Given the description of an element on the screen output the (x, y) to click on. 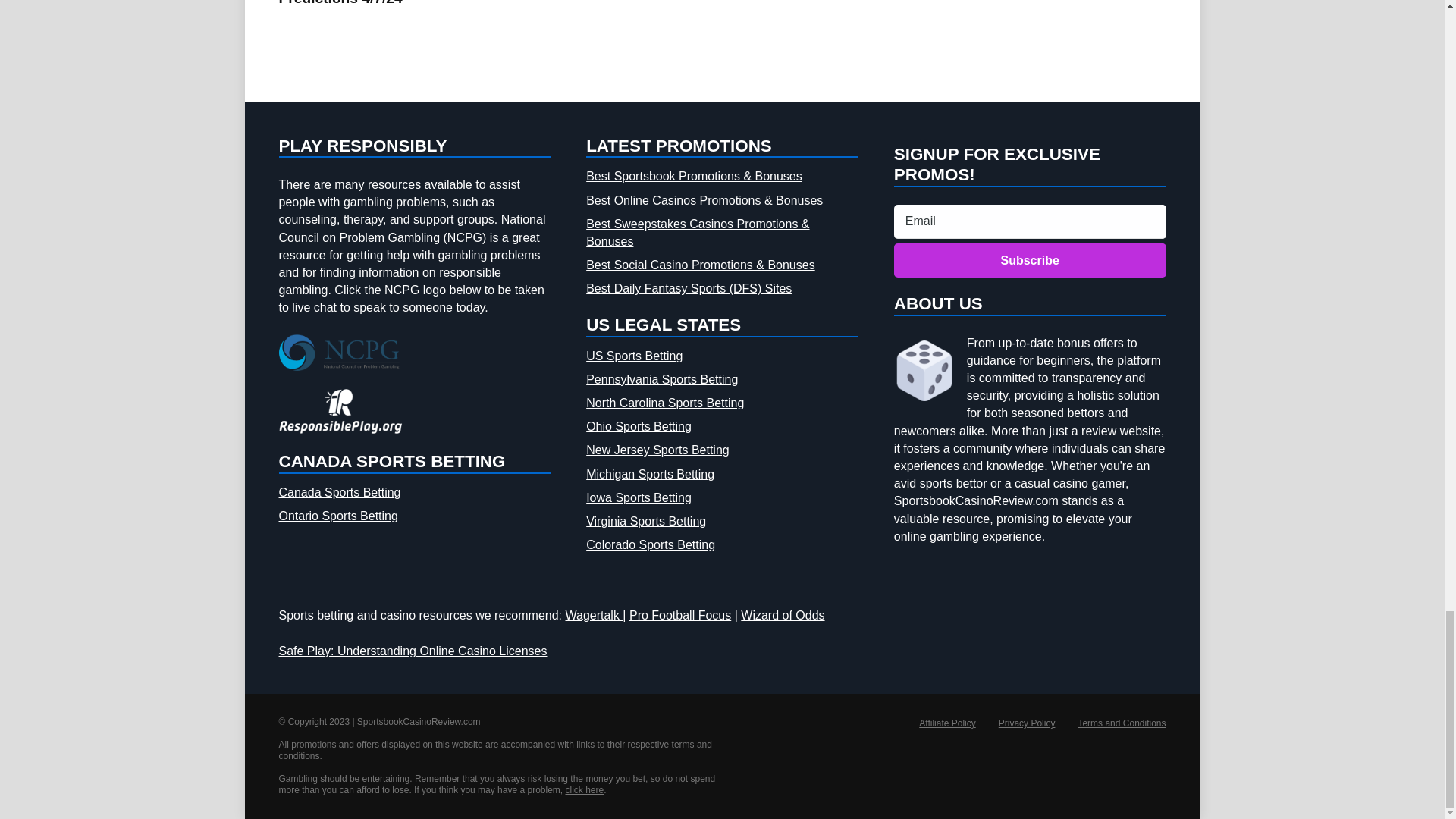
Sportsbook Casino Review (418, 721)
Subscribe (1029, 260)
Canada Sports Betting (340, 490)
Ontario Sports Betting (338, 514)
